Given the description of an element on the screen output the (x, y) to click on. 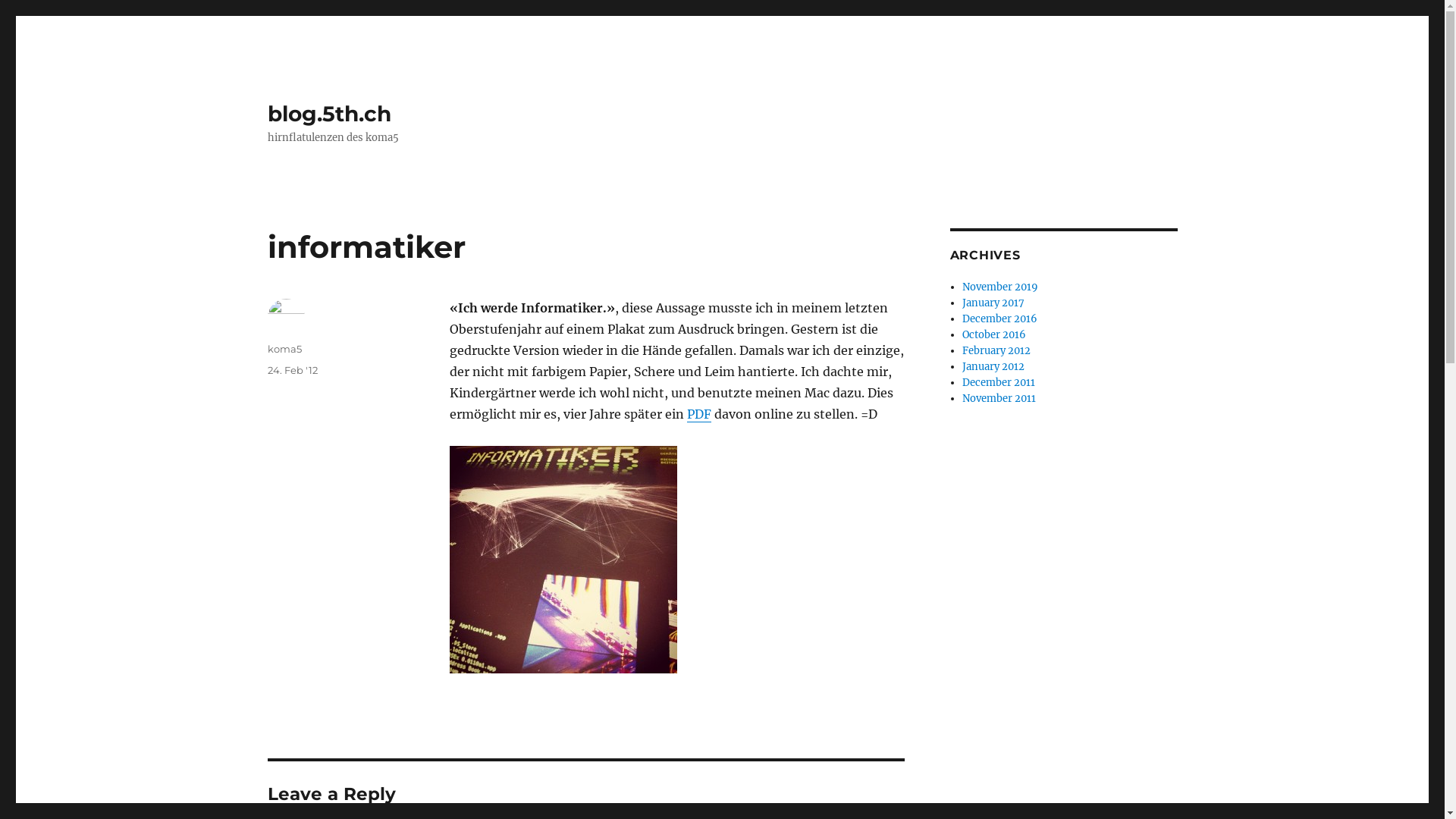
November 2011 Element type: text (998, 398)
24. Feb '12 Element type: text (291, 370)
December 2011 Element type: text (998, 382)
February 2012 Element type: text (996, 350)
PDF Element type: text (699, 413)
October 2016 Element type: text (994, 334)
January 2017 Element type: text (993, 302)
blog.5th.ch Element type: text (328, 113)
January 2012 Element type: text (993, 366)
photo informatiker plakat Element type: hover (562, 559)
November 2019 Element type: text (1000, 286)
koma5 Element type: text (283, 348)
December 2016 Element type: text (999, 318)
